Given the description of an element on the screen output the (x, y) to click on. 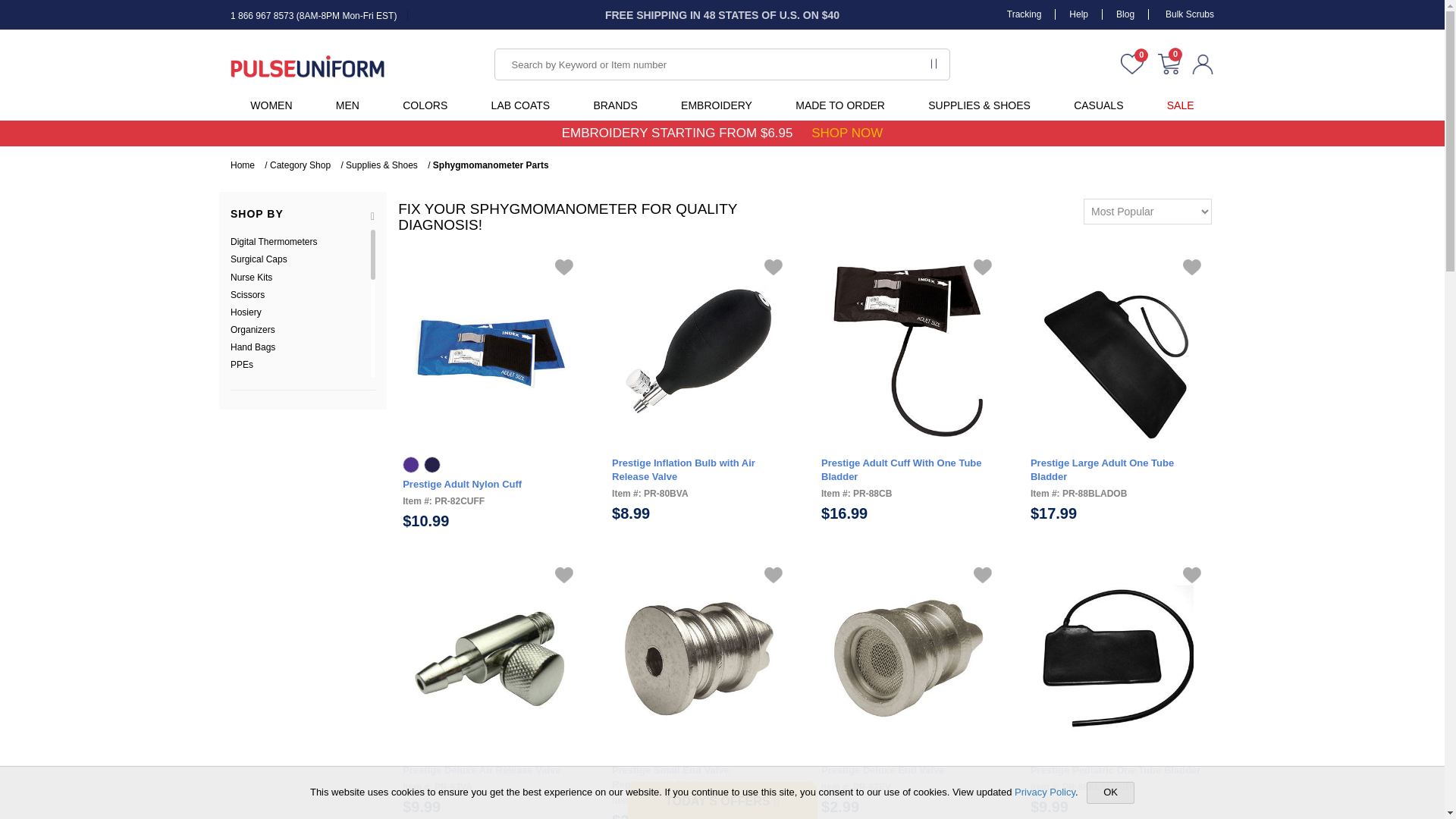
Bulk Scrubs (1182, 14)
Help (1078, 14)
Tracking (1024, 14)
Blog (1125, 14)
